Given the description of an element on the screen output the (x, y) to click on. 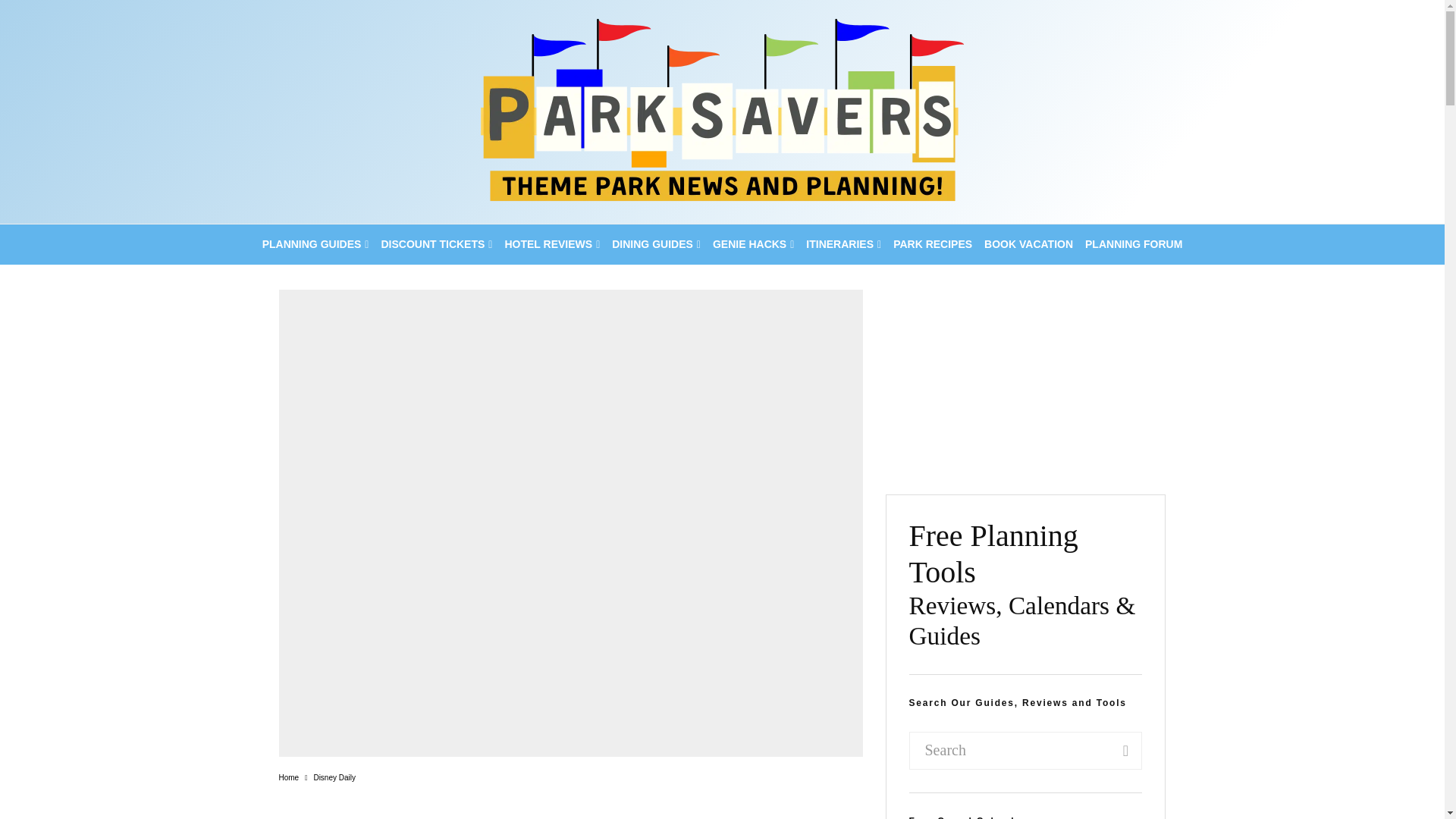
PARK RECIPES (932, 244)
BOOK VACATION (1028, 244)
DINING GUIDES (655, 244)
ITINERARIES (842, 244)
DISCOUNT TICKETS (435, 244)
HOTEL REVIEWS (551, 244)
PLANNING GUIDES (315, 244)
GENIE HACKS (752, 244)
PLANNING FORUM (1133, 244)
